Given the description of an element on the screen output the (x, y) to click on. 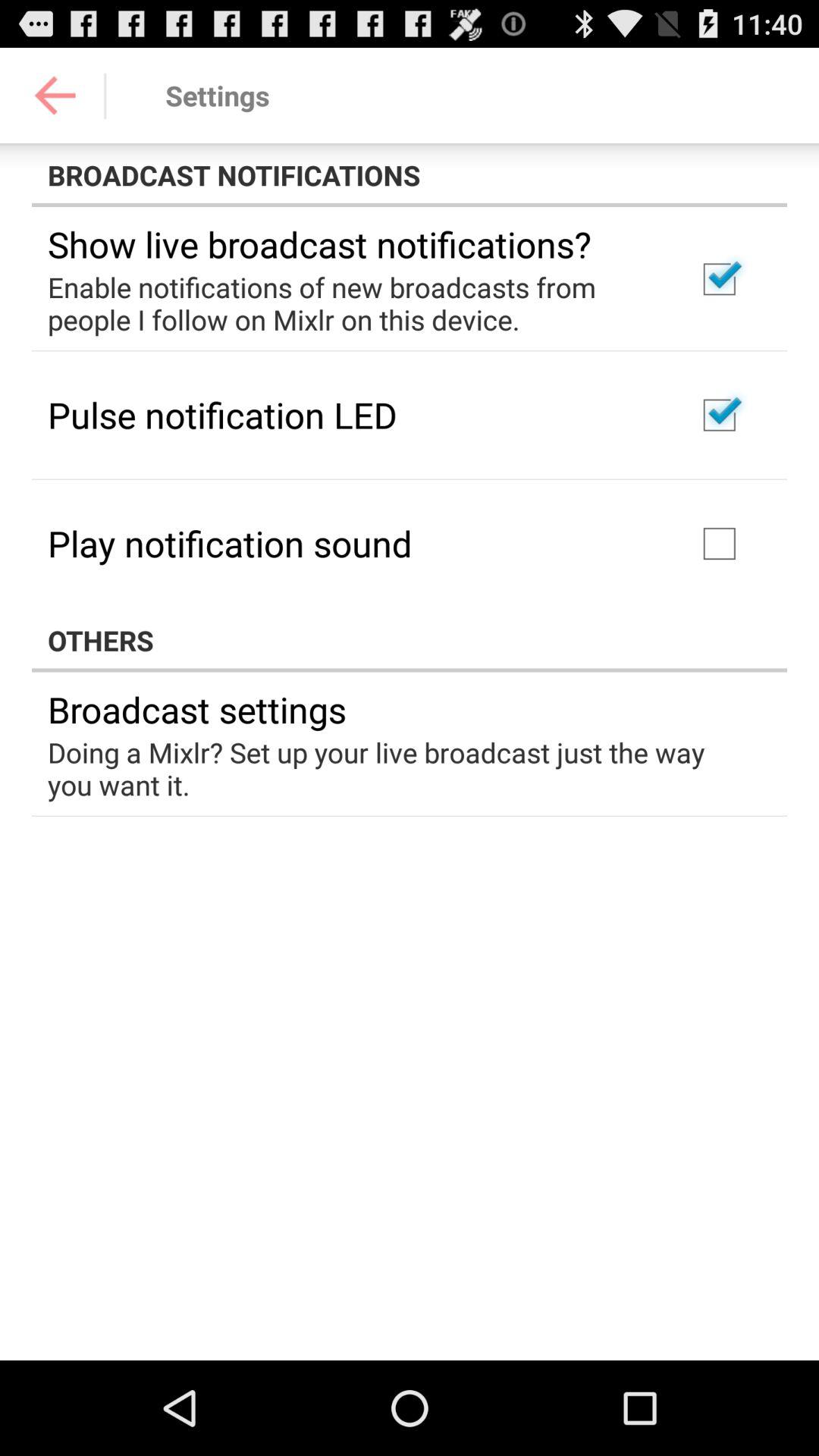
launch the enable notifications of app (351, 303)
